Given the description of an element on the screen output the (x, y) to click on. 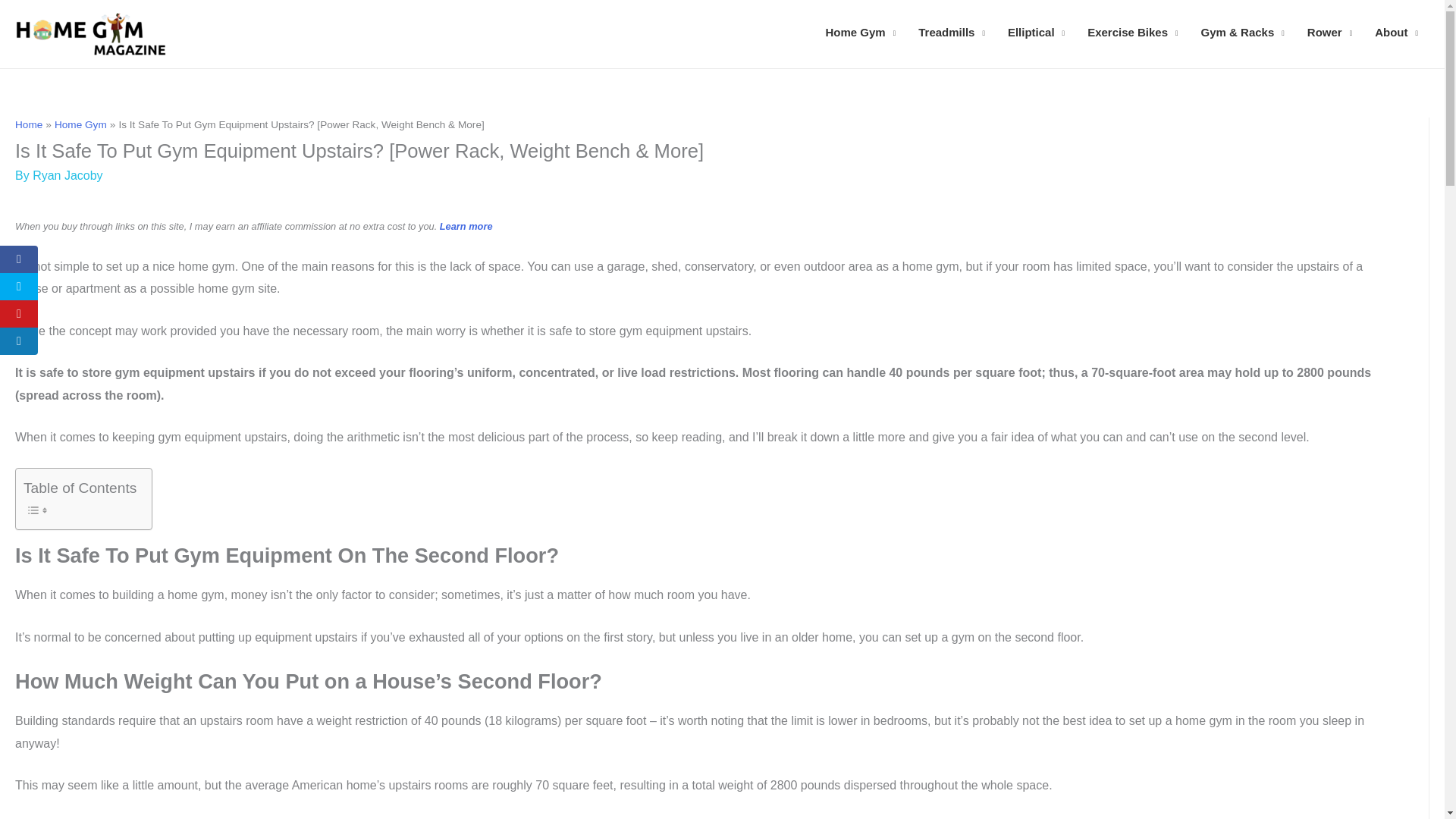
Treadmills (951, 32)
Home Gym (860, 32)
View all posts by Ryan Jacoby (67, 174)
Elliptical (1035, 32)
